Given the description of an element on the screen output the (x, y) to click on. 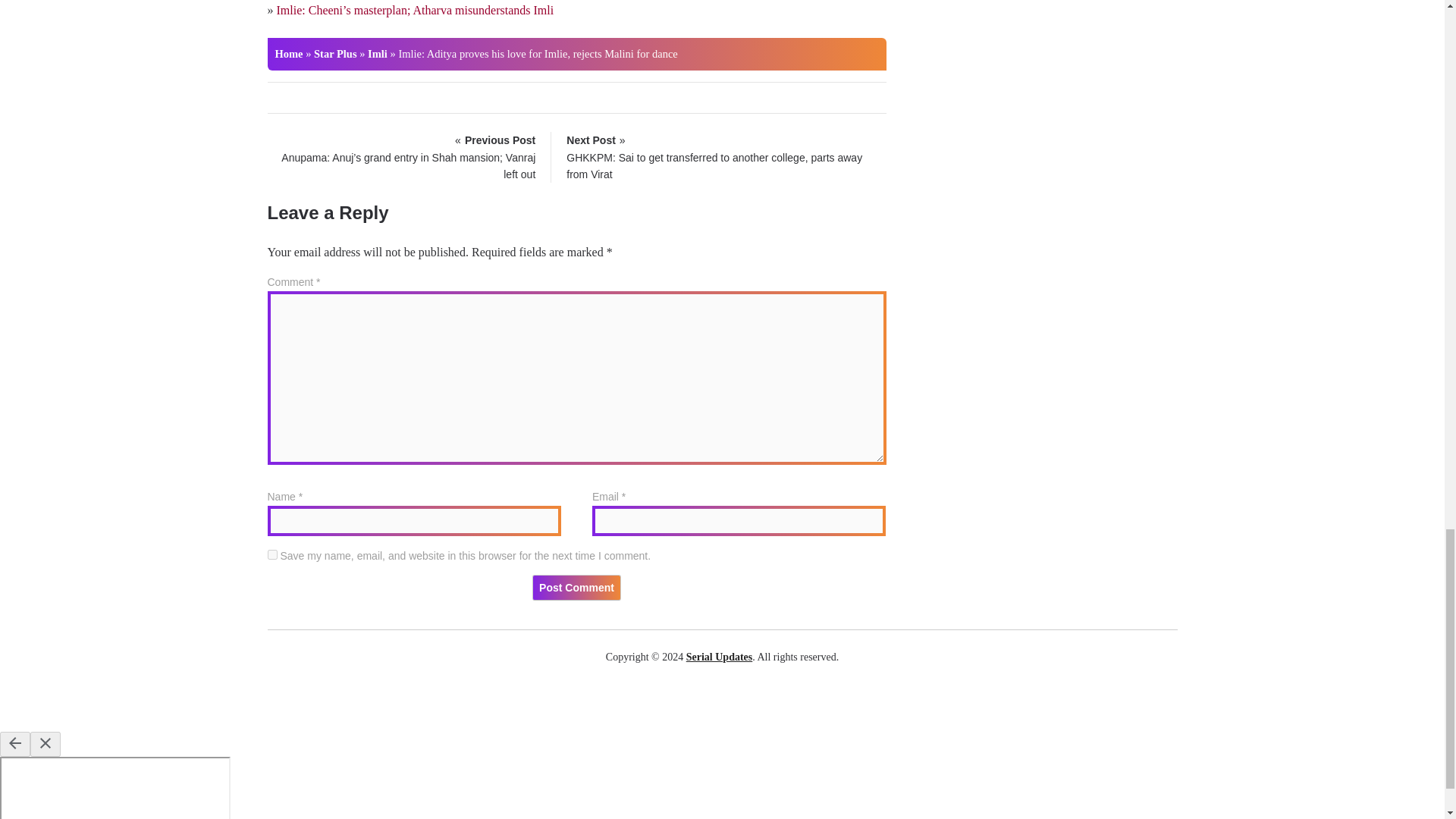
Post Comment (576, 587)
Star Plus (335, 53)
DMCA.com Protection Status (721, 703)
Imli (377, 53)
yes (271, 554)
Post Comment (576, 587)
Home (288, 53)
Serial Updates (718, 656)
